Given the description of an element on the screen output the (x, y) to click on. 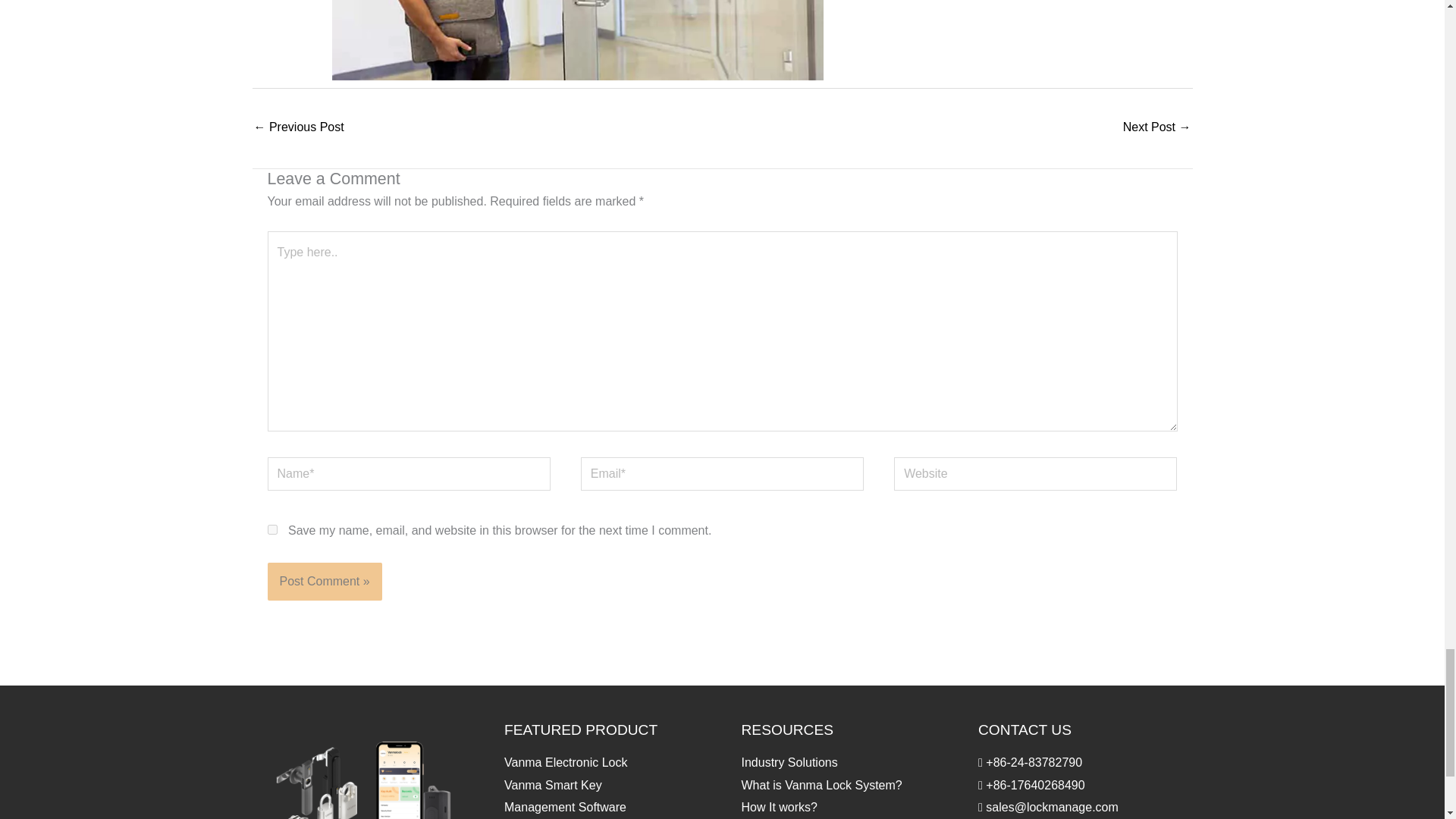
yes (271, 529)
Enhancing Security with High-Quality Cam Locks and Keys (1156, 128)
